Given the description of an element on the screen output the (x, y) to click on. 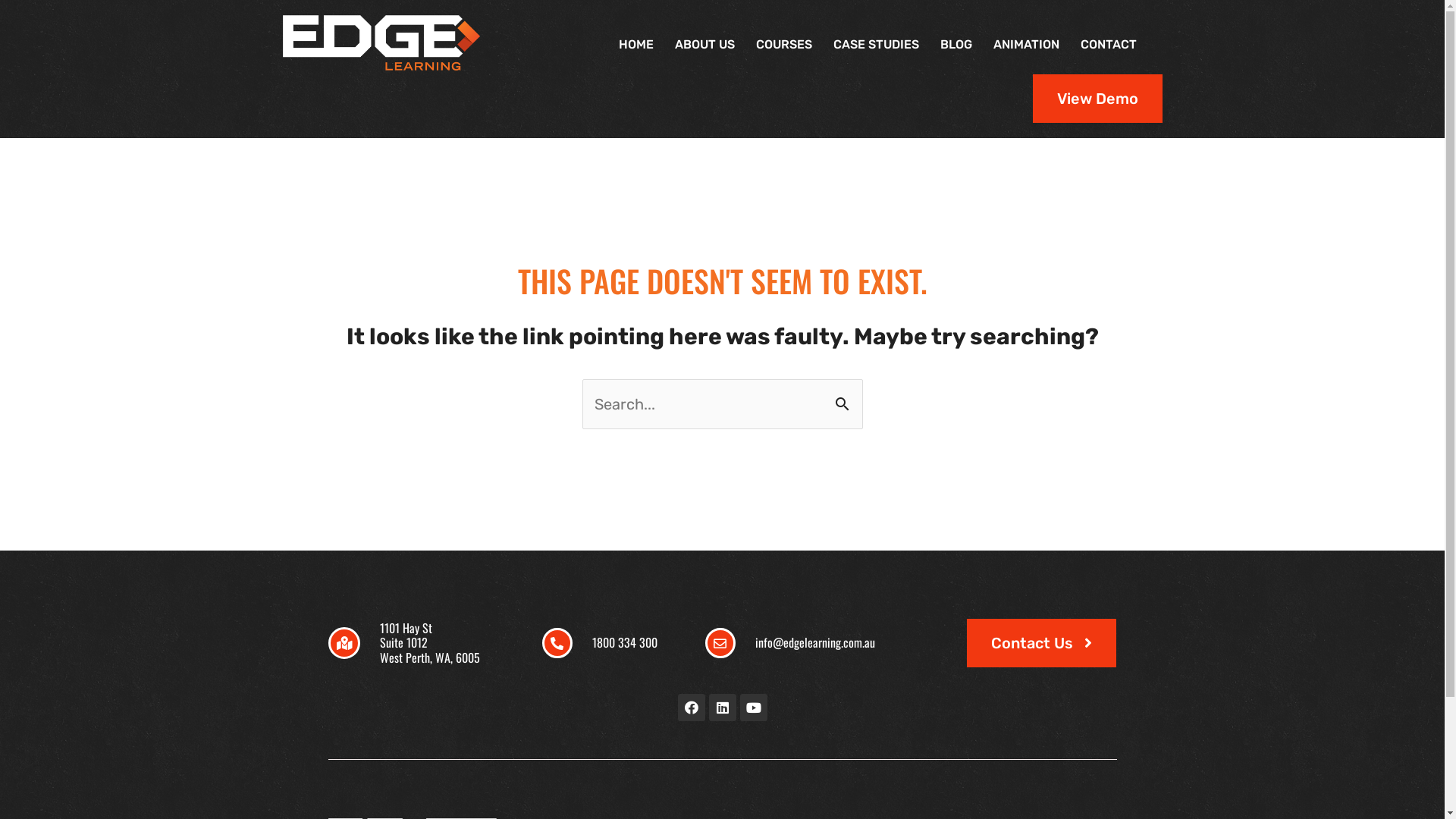
COURSES Element type: text (783, 44)
ANIMATION Element type: text (1026, 44)
1800 334 300 Element type: text (624, 642)
HOME Element type: text (636, 44)
Youtube Element type: text (753, 707)
Search Element type: text (845, 402)
View Demo Element type: text (1097, 98)
ABOUT US Element type: text (704, 44)
Facebook Element type: text (691, 707)
Linkedin Element type: text (721, 707)
info@edgelearning.com.au Element type: text (815, 642)
Contact Us Element type: text (1041, 642)
CASE STUDIES Element type: text (875, 44)
CONTACT Element type: text (1107, 44)
BLOG Element type: text (955, 44)
